Given the description of an element on the screen output the (x, y) to click on. 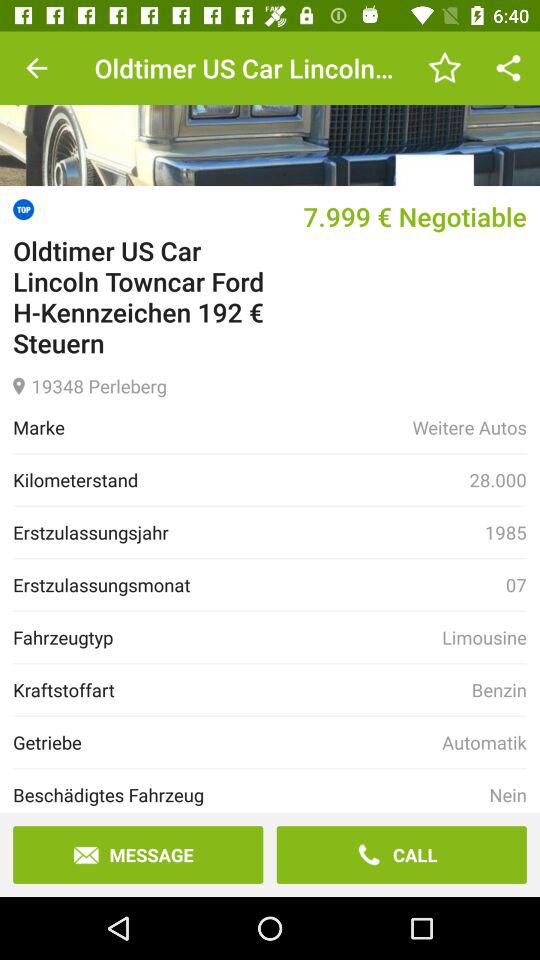
go to main menu (270, 108)
